Given the description of an element on the screen output the (x, y) to click on. 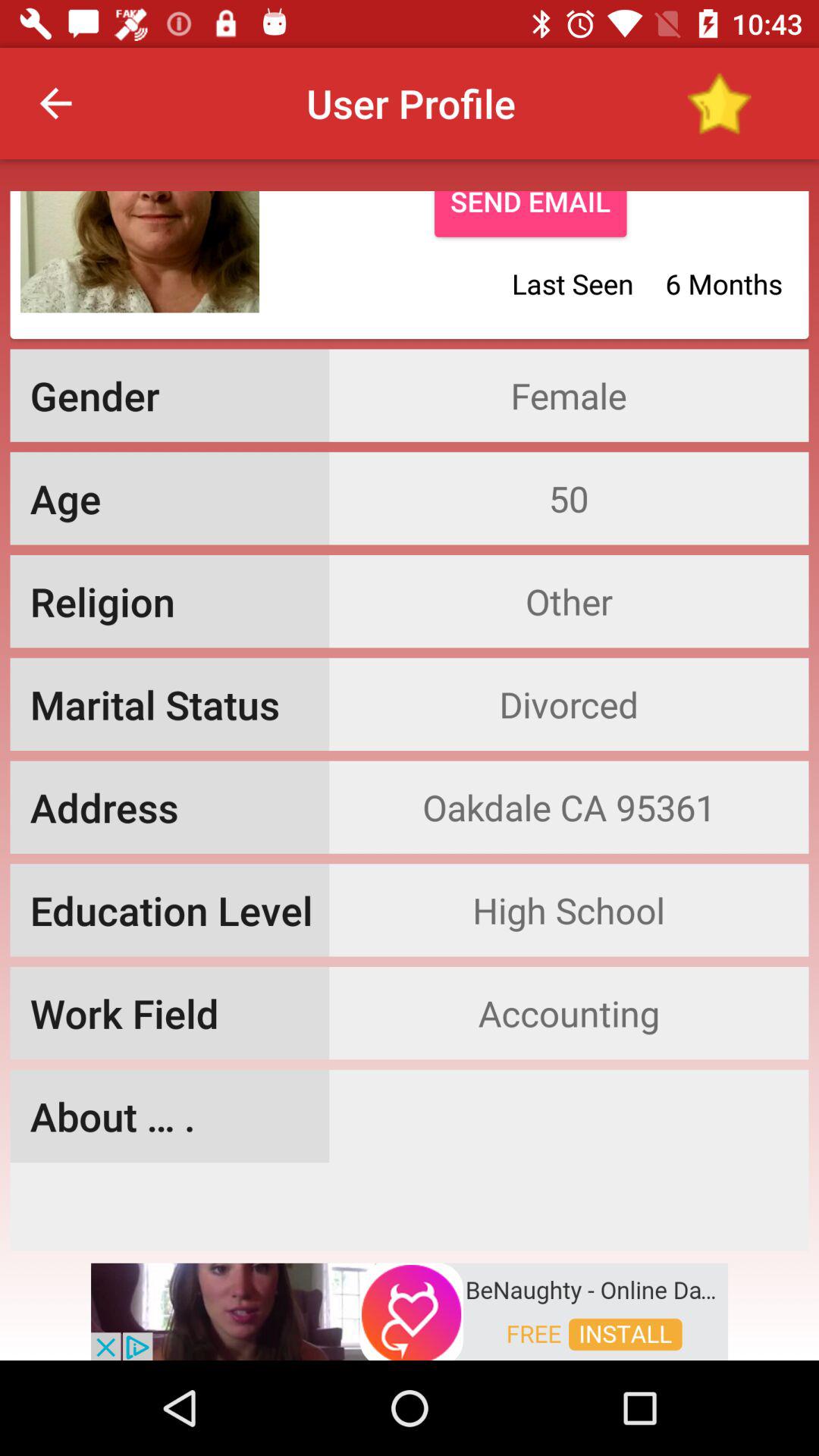
select the symbol which is to the right of user profile (719, 103)
